Given the description of an element on the screen output the (x, y) to click on. 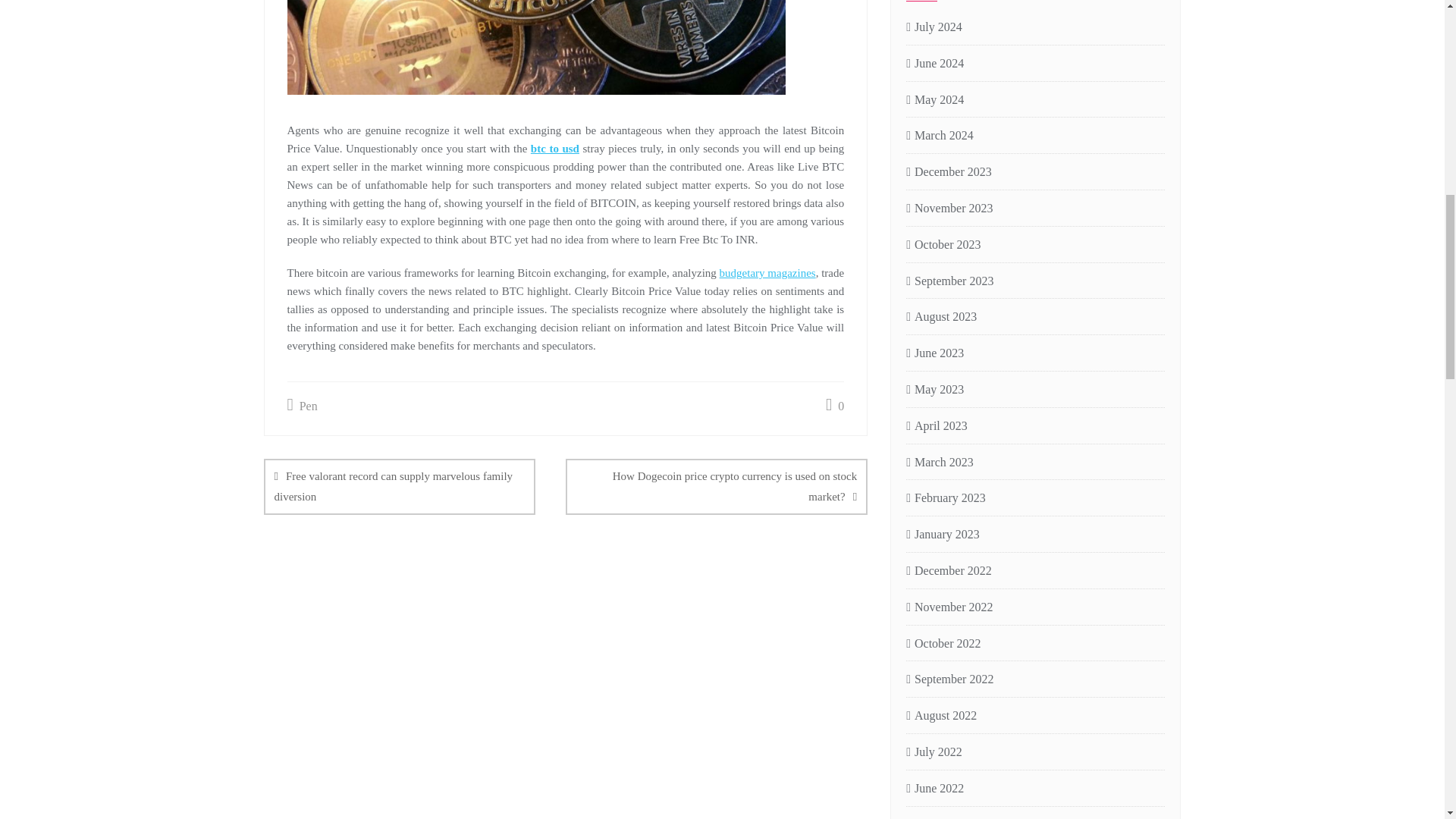
How Dogecoin price crypto currency is used on stock market? (716, 486)
March 2023 (939, 463)
June 2023 (934, 353)
November 2023 (948, 209)
September 2023 (948, 281)
June 2022 (934, 789)
April 2023 (936, 426)
May 2023 (934, 390)
May 2024 (934, 100)
May 2022 (934, 816)
